Given the description of an element on the screen output the (x, y) to click on. 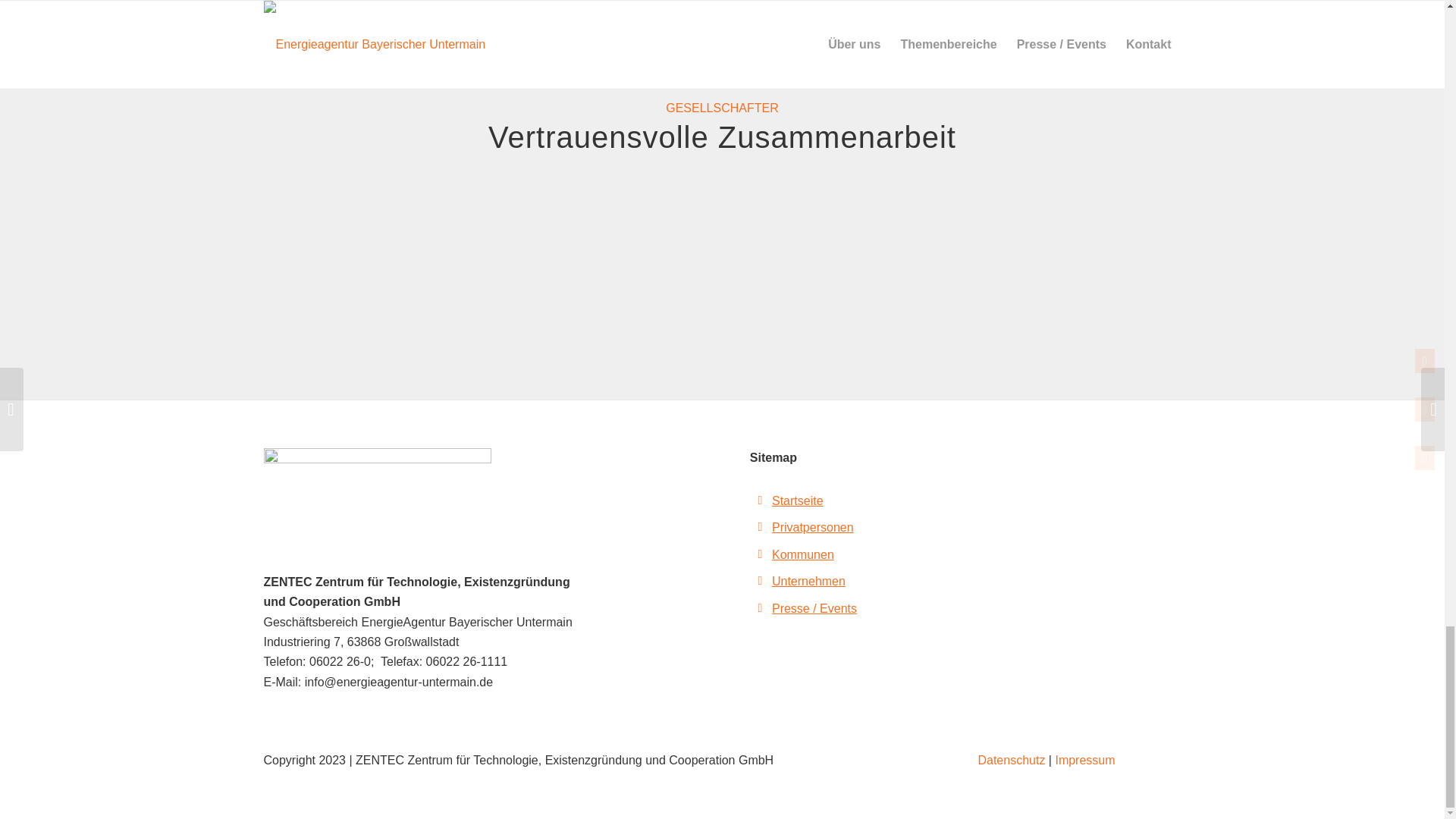
Privatpersonen (812, 526)
Kommunen (802, 554)
Unternehmen (808, 581)
Startseite  (797, 500)
